Given the description of an element on the screen output the (x, y) to click on. 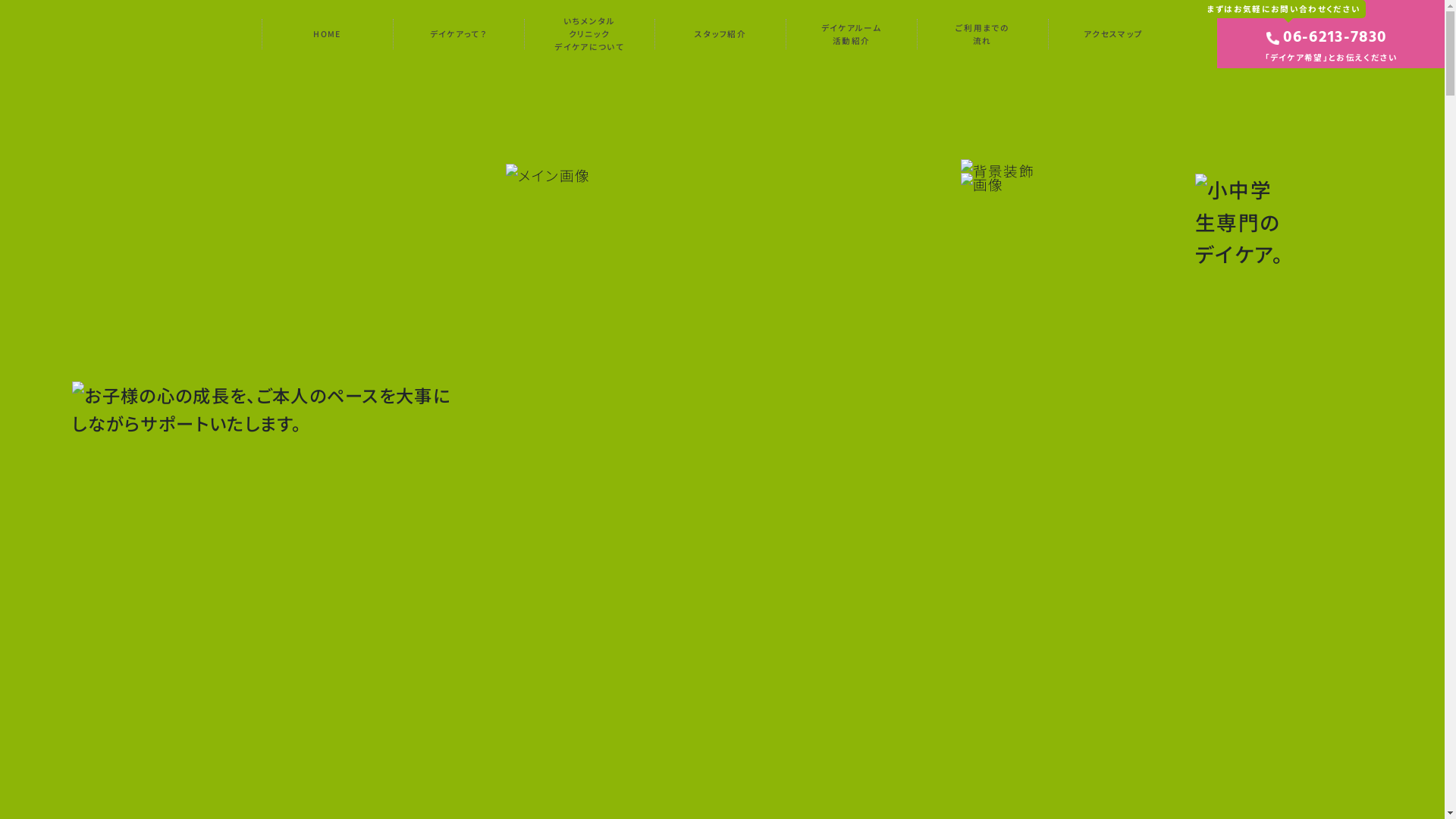
HOME Element type: text (326, 33)
06-6213-7830 Element type: text (1334, 37)
